Given the description of an element on the screen output the (x, y) to click on. 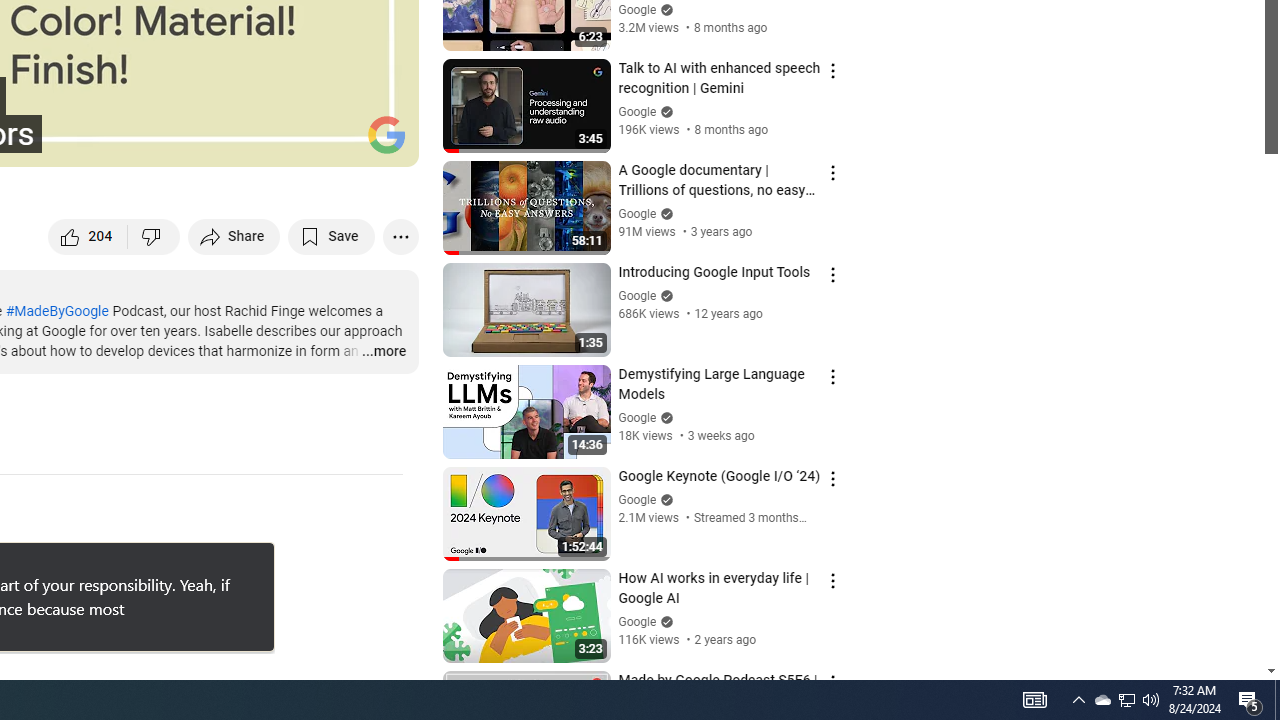
Verified (664, 621)
AutomationID: 4105 (1102, 699)
Action menu (1034, 699)
...more (832, 682)
Show desktop (382, 352)
Channel watermark (1277, 699)
Pin (386, 134)
Settings (207, 560)
Dislike this video (237, 142)
